Given the description of an element on the screen output the (x, y) to click on. 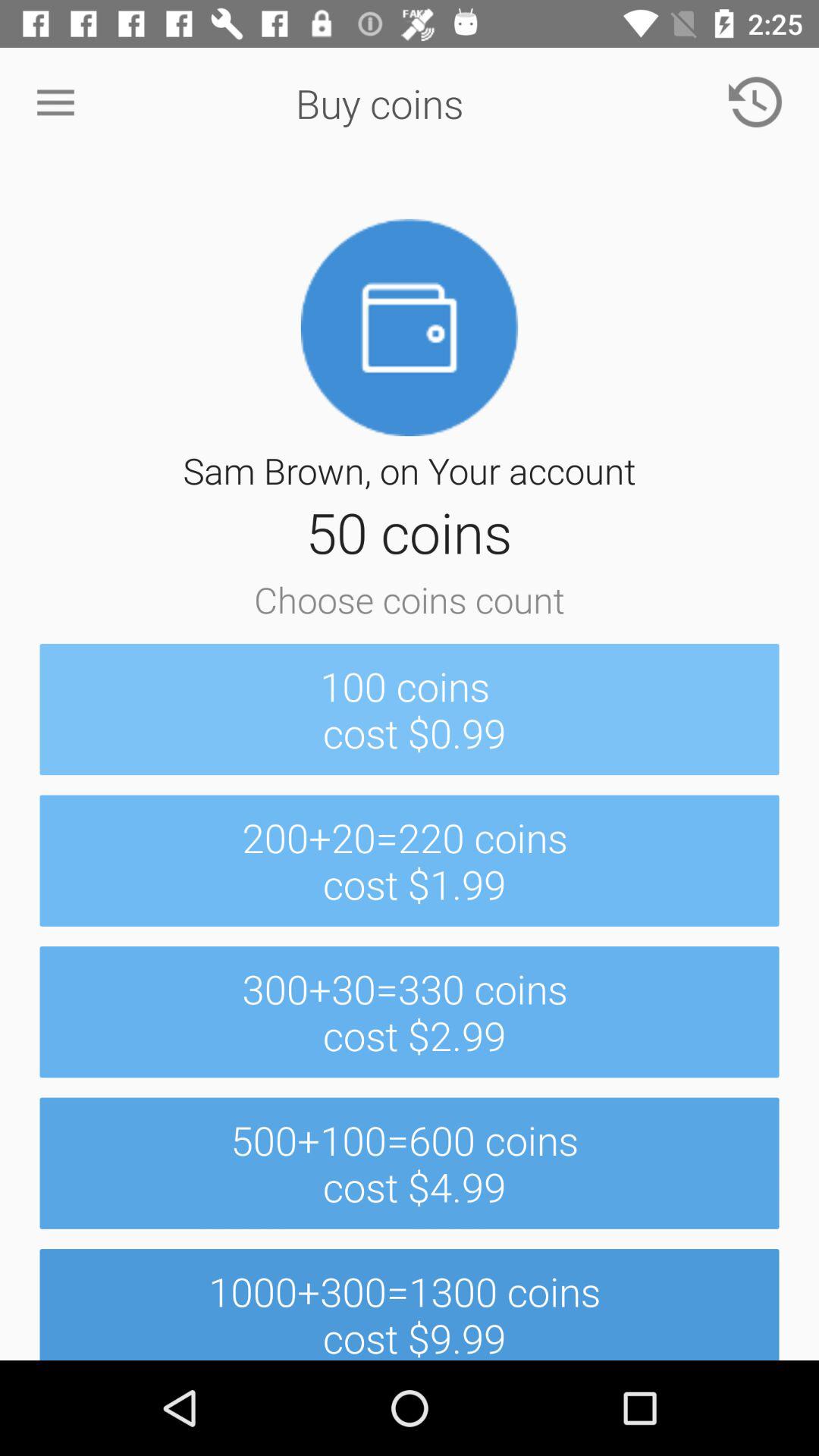
press item above 500 100 600 (409, 1011)
